Given the description of an element on the screen output the (x, y) to click on. 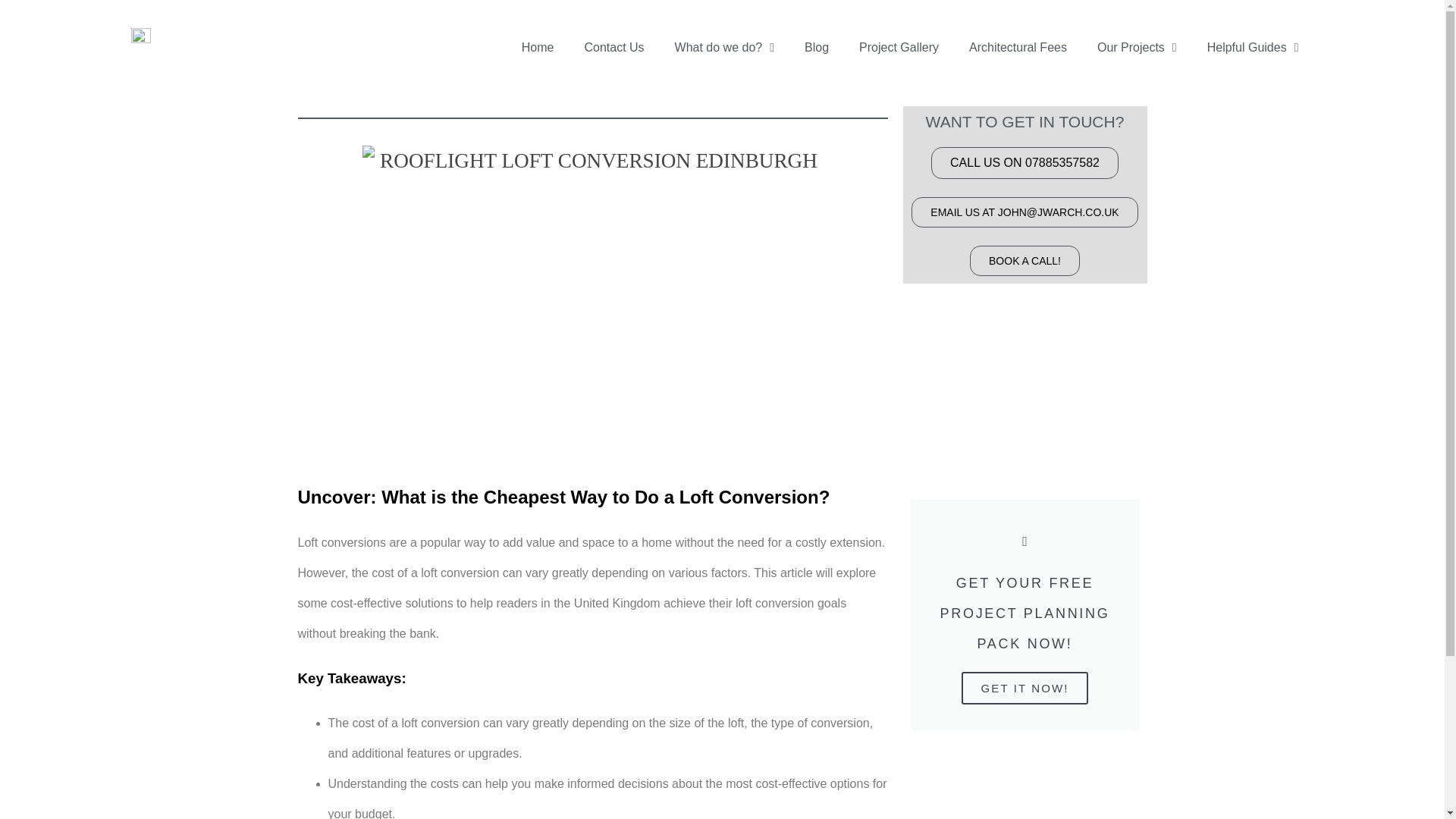
Blog (816, 47)
Home (537, 47)
Architectural Fees (1017, 47)
Project Gallery (898, 47)
Our Projects (1136, 47)
Helpful Guides (1253, 47)
Contact Us (614, 47)
What do we do? (724, 47)
